Given the description of an element on the screen output the (x, y) to click on. 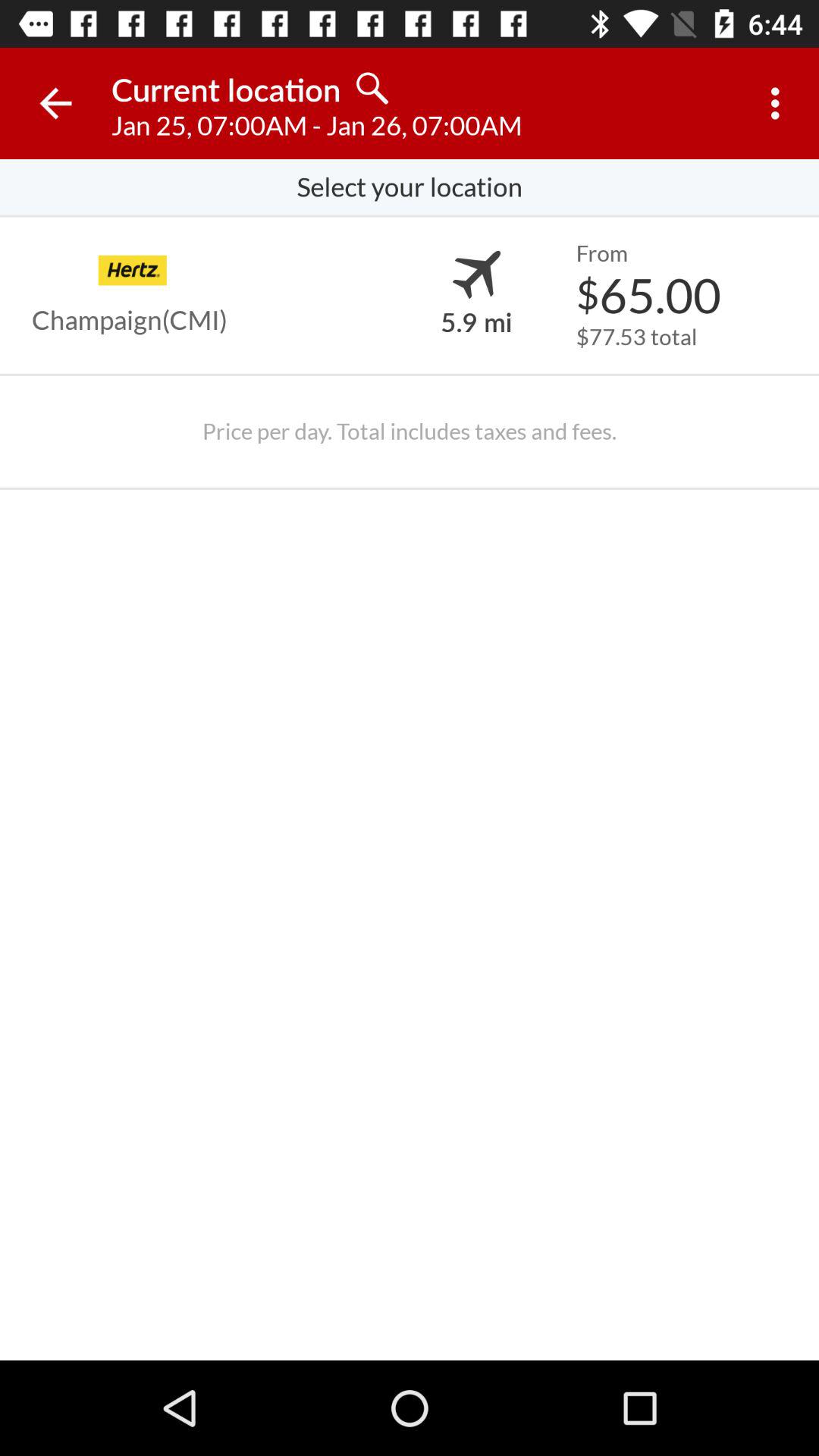
jump to from item (601, 253)
